Given the description of an element on the screen output the (x, y) to click on. 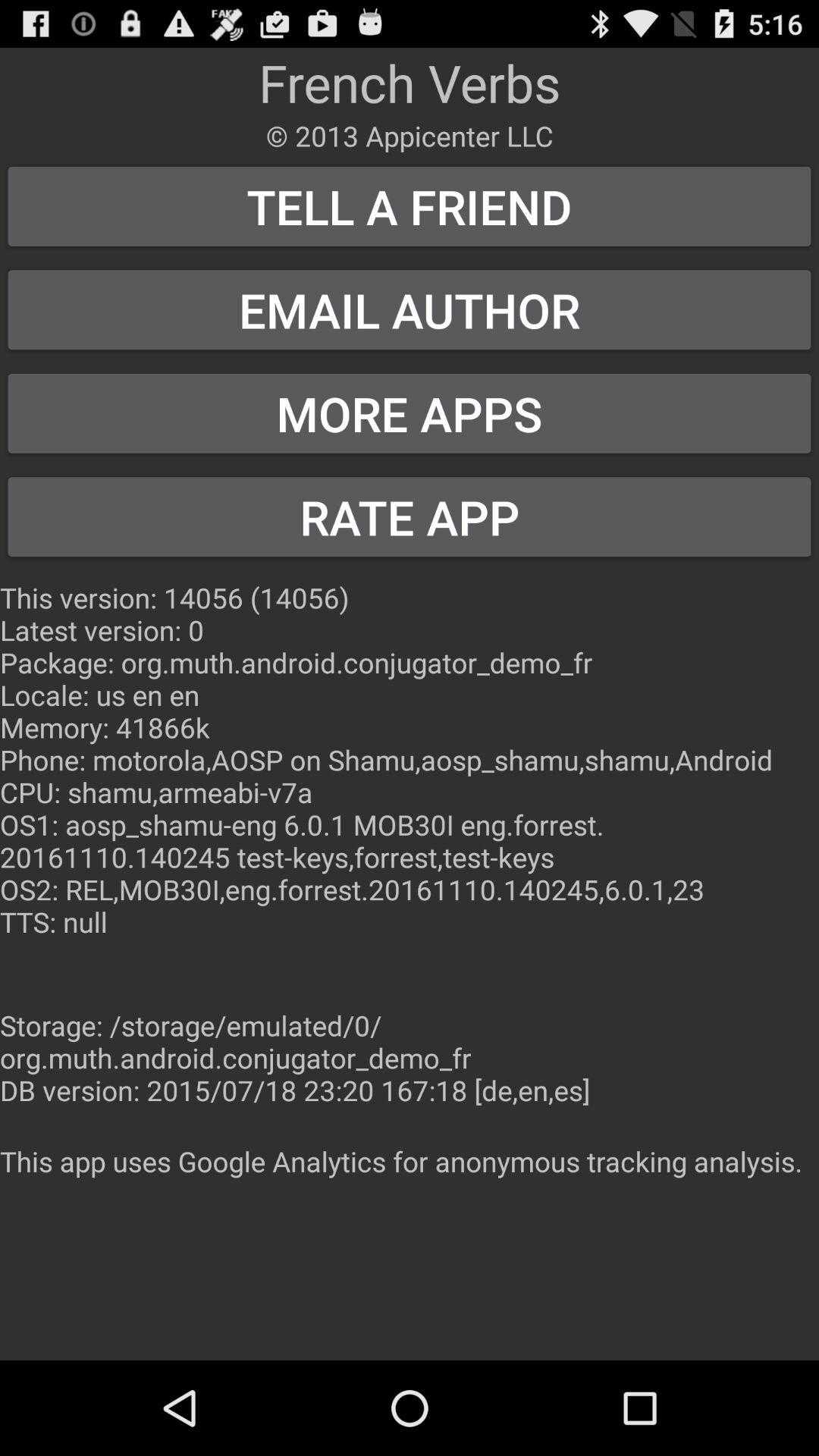
turn off the icon above more apps item (409, 309)
